Given the description of an element on the screen output the (x, y) to click on. 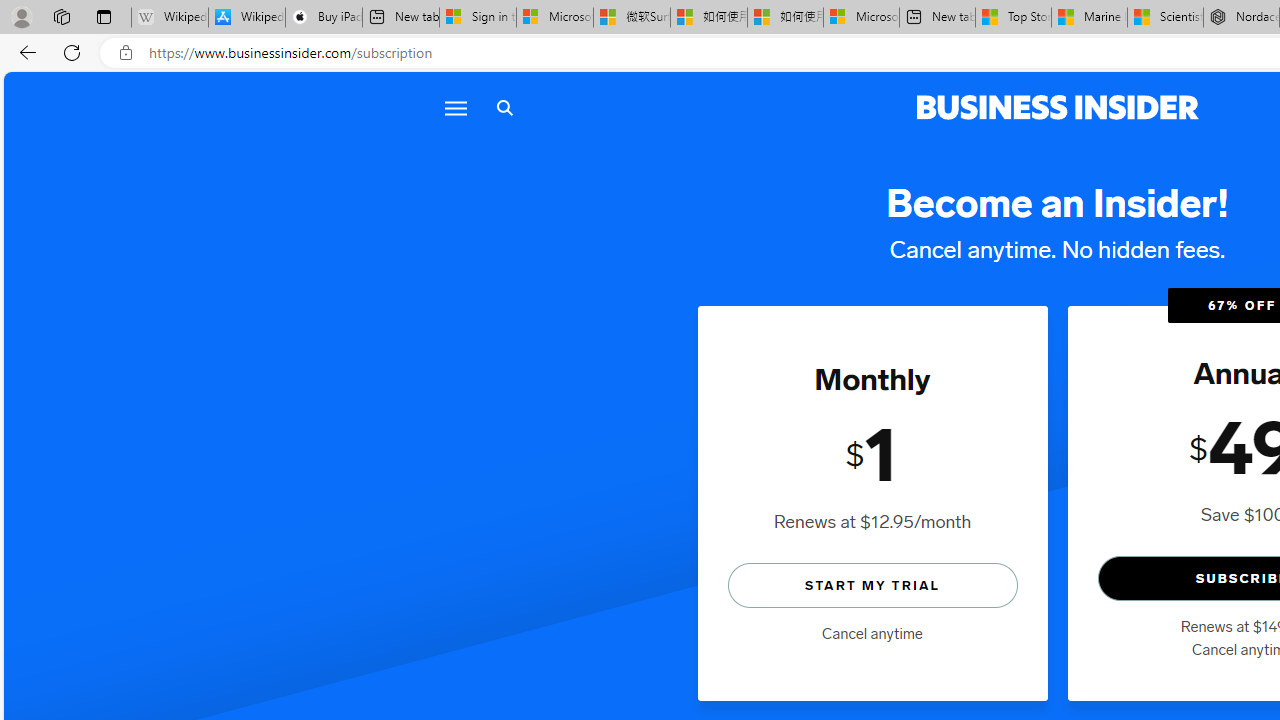
Menu (454, 107)
START MY TRIAL (872, 584)
Search icon (504, 107)
